Given the description of an element on the screen output the (x, y) to click on. 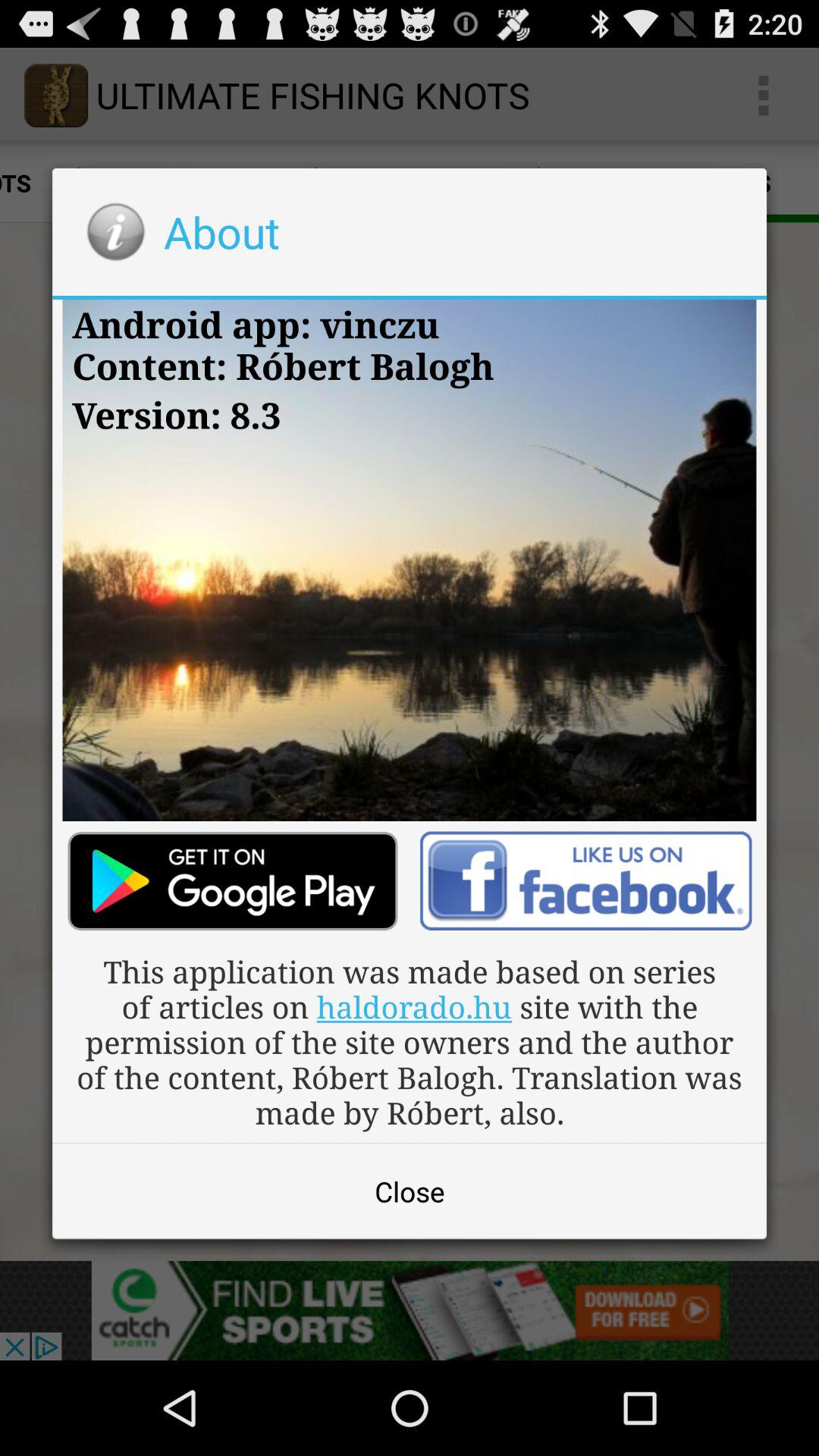
jump until the this application was (409, 1041)
